Given the description of an element on the screen output the (x, y) to click on. 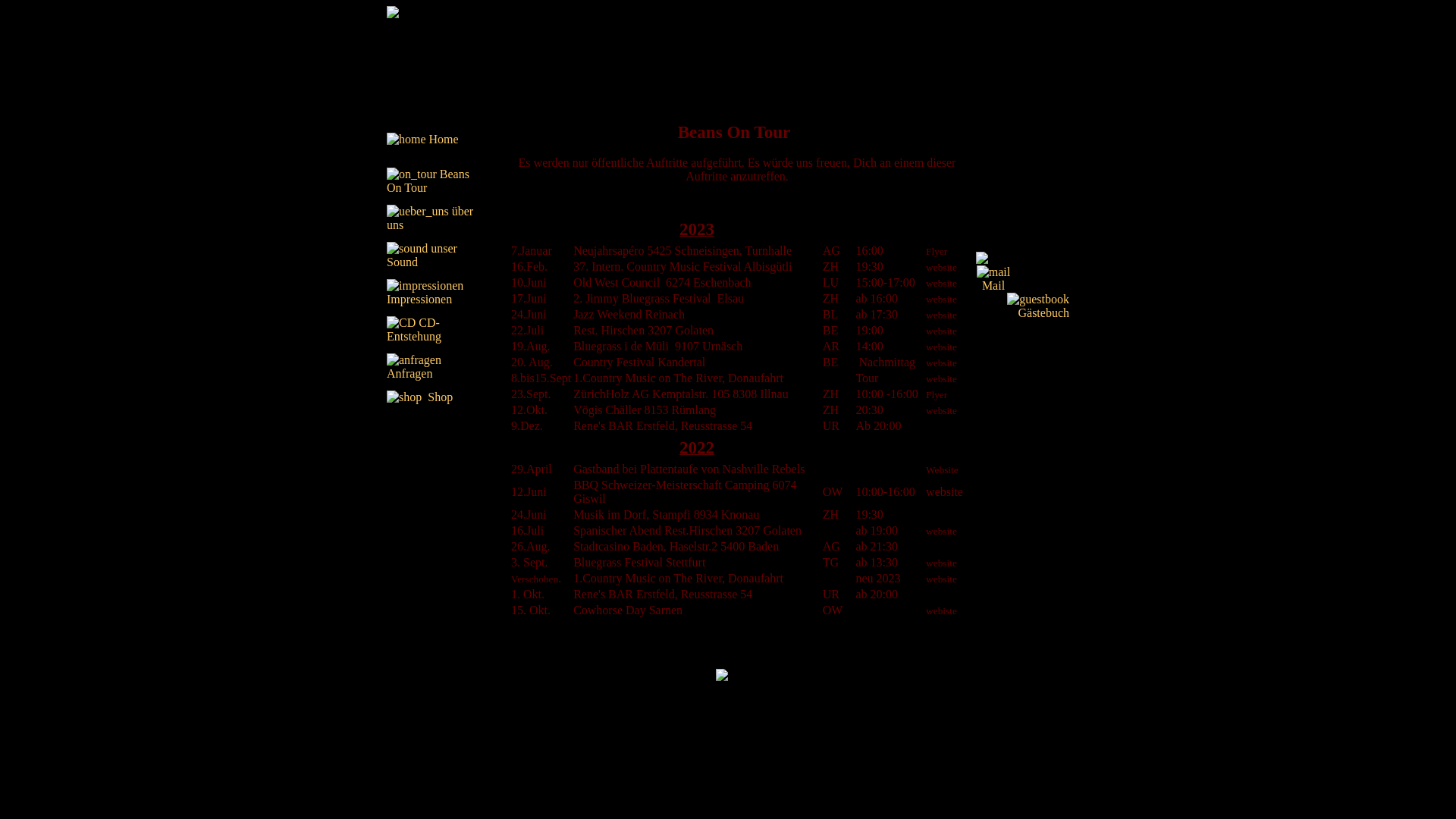
  Element type: text (406, 396)
website Element type: text (941, 329)
Website Element type: text (941, 469)
website Element type: text (941, 410)
website Element type: text (941, 561)
unser Sound Element type: text (421, 254)
Beans On Tour Element type: text (427, 180)
Home Element type: text (443, 138)
Mail Element type: text (993, 285)
Flyer Element type: text (936, 250)
website Element type: text (941, 282)
Flyer Element type: text (936, 393)
website Element type: text (941, 577)
Impressionen Element type: text (424, 292)
website Element type: text (944, 491)
CD-Entstehung Element type: text (413, 329)
website Element type: text (941, 530)
webiste Element type: text (941, 609)
website Element type: text (941, 377)
Shop Element type: text (439, 396)
website Element type: text (941, 266)
  Anfragen Element type: text (415, 366)
website Element type: text (941, 361)
website Element type: text (941, 313)
website Element type: text (941, 297)
website Element type: text (941, 345)
